Given the description of an element on the screen output the (x, y) to click on. 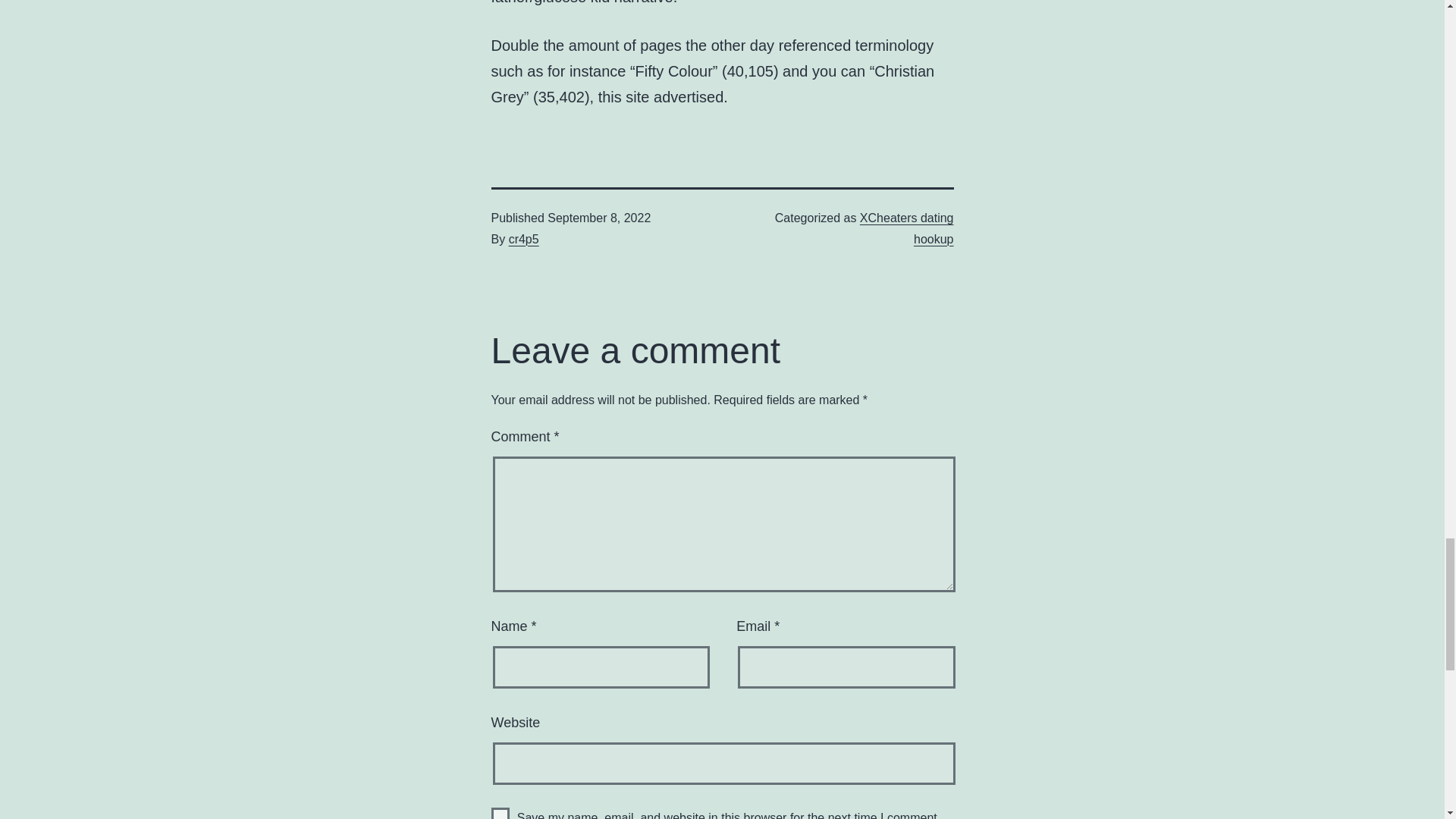
cr4p5 (523, 238)
XCheaters dating hookup (906, 227)
yes (500, 813)
